Given the description of an element on the screen output the (x, y) to click on. 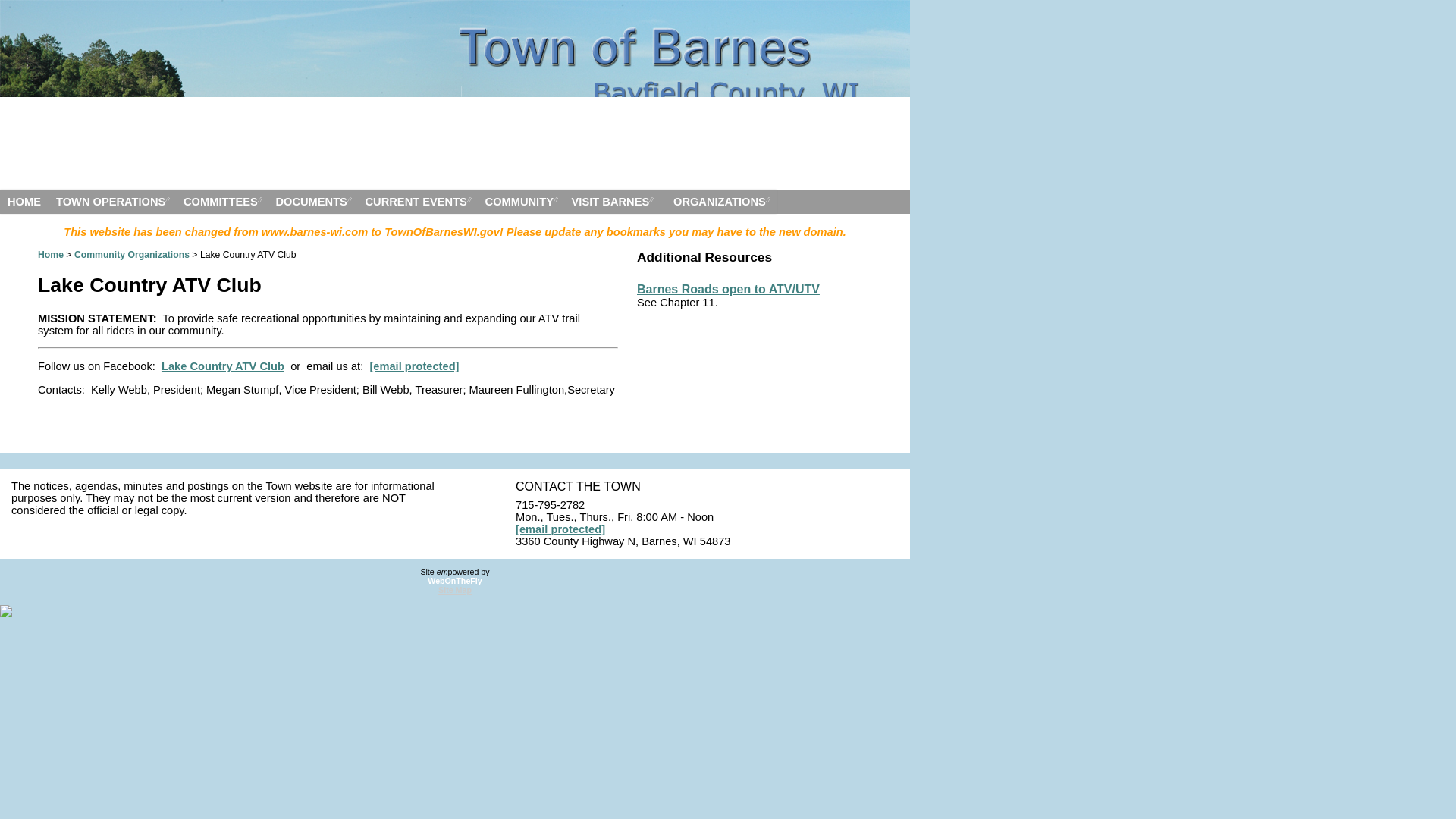
HOME (24, 201)
COMMITTEES (221, 201)
TOWN OPERATIONS (112, 201)
DOCUMENTS (311, 201)
COMMUNITY (520, 201)
CURRENT EVENTS (417, 201)
